Given the description of an element on the screen output the (x, y) to click on. 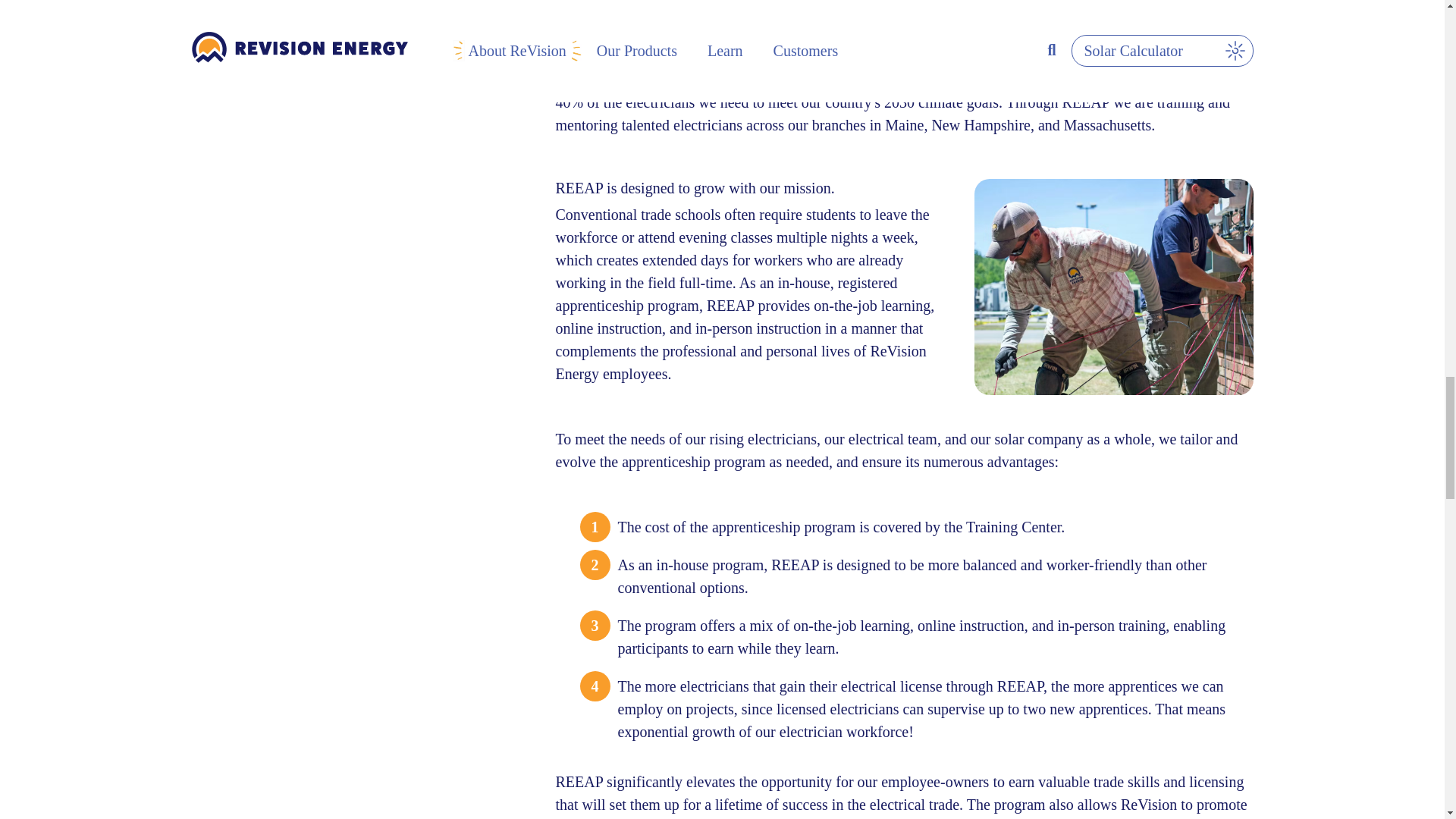
Mute (1161, 7)
Show captions menu (1131, 7)
Play Video (569, 7)
Show settings menu (1191, 7)
Fullscreen (1222, 7)
